Given the description of an element on the screen output the (x, y) to click on. 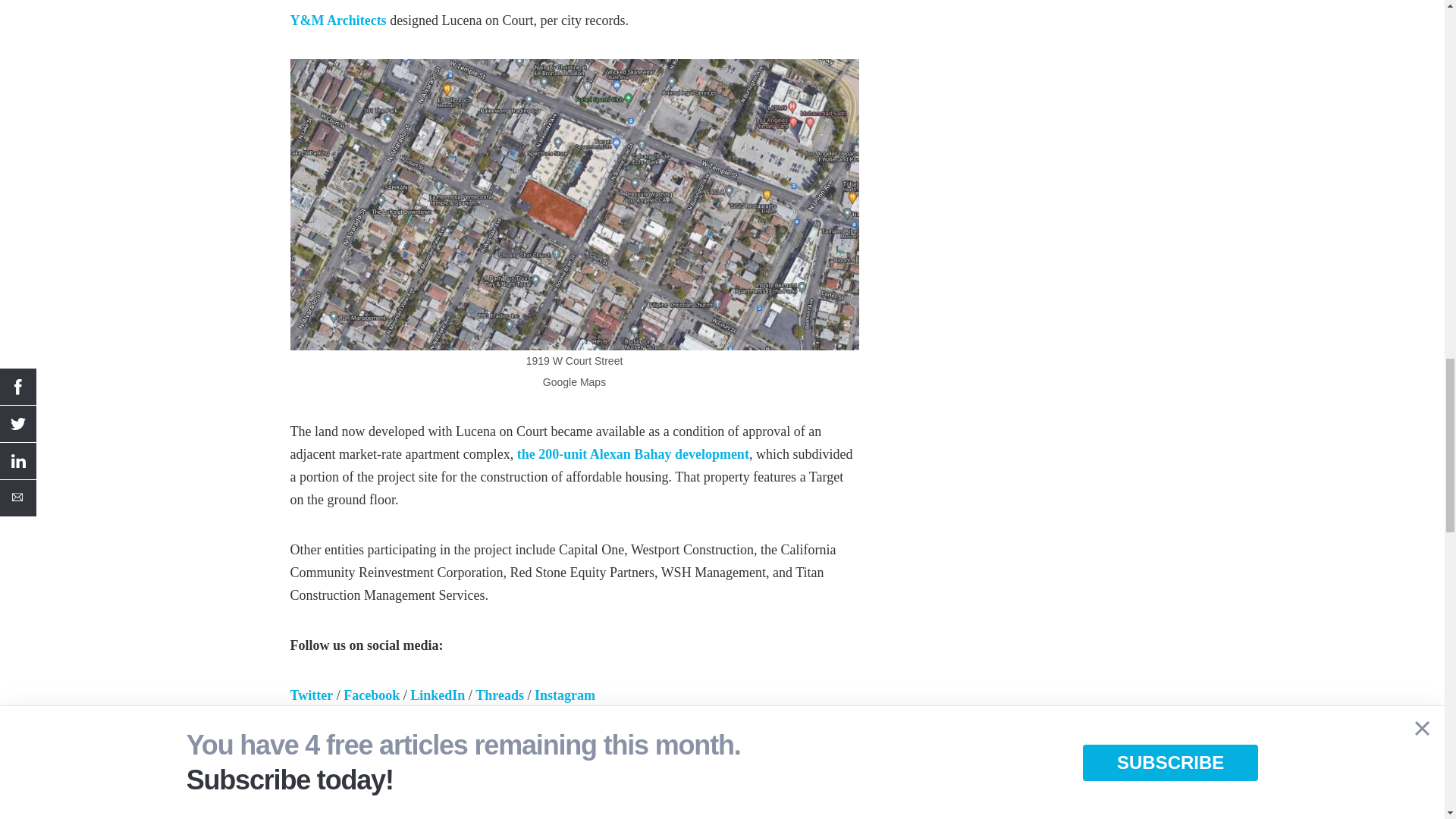
Google Maps (574, 202)
